Given the description of an element on the screen output the (x, y) to click on. 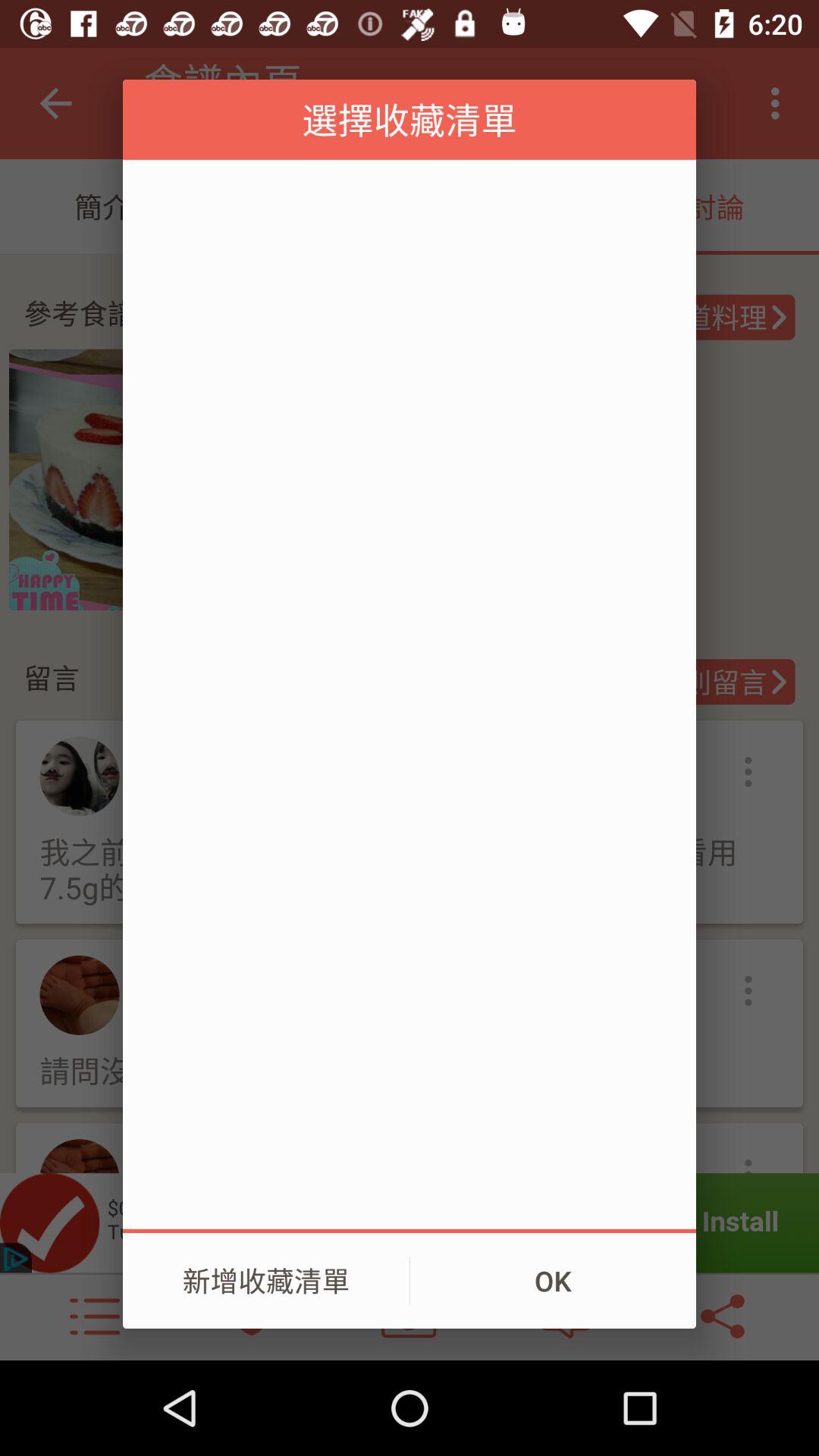
swipe to the ok item (553, 1280)
